Given the description of an element on the screen output the (x, y) to click on. 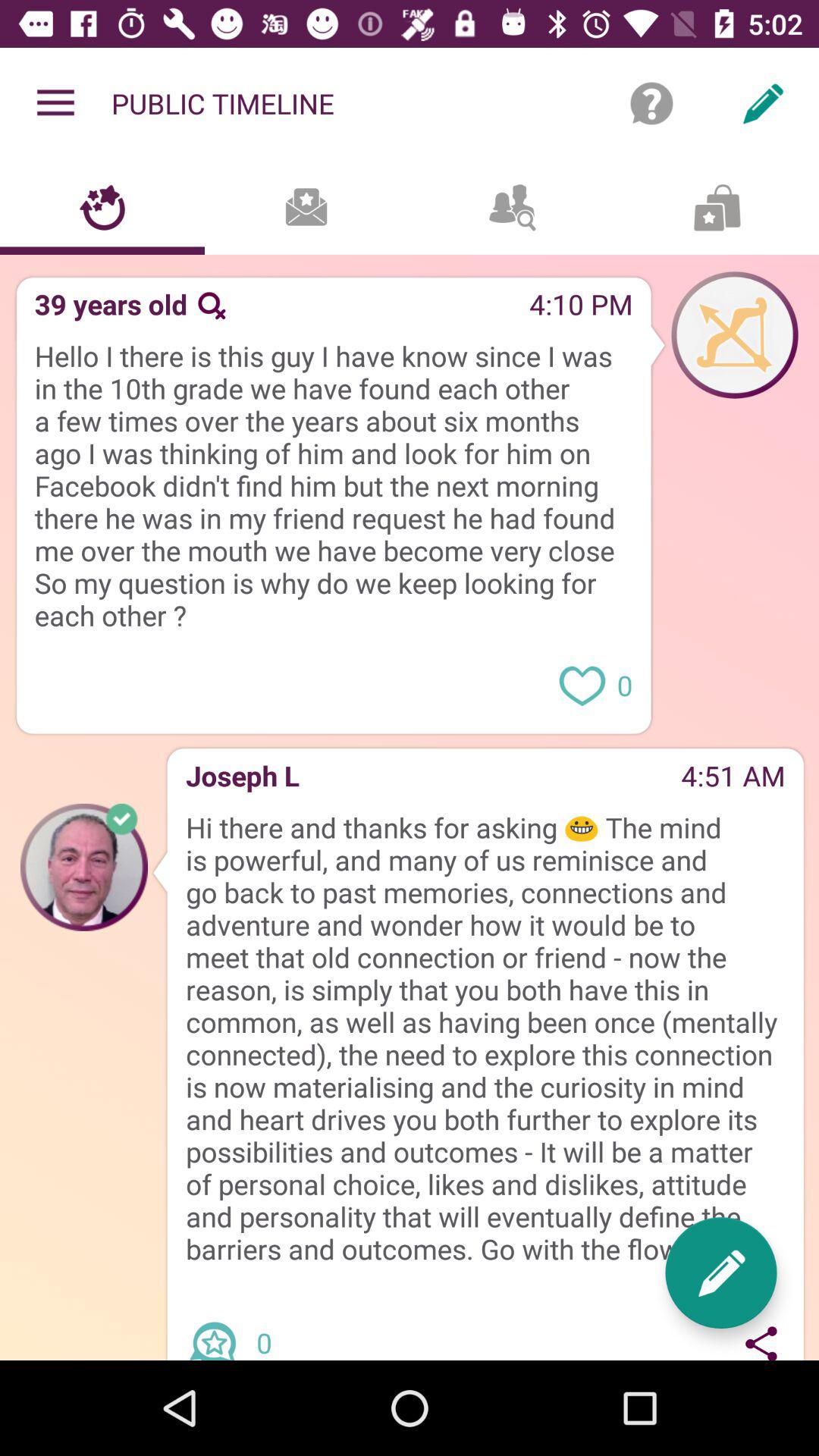
turn on the icon below the joseph l item (485, 1037)
